Given the description of an element on the screen output the (x, y) to click on. 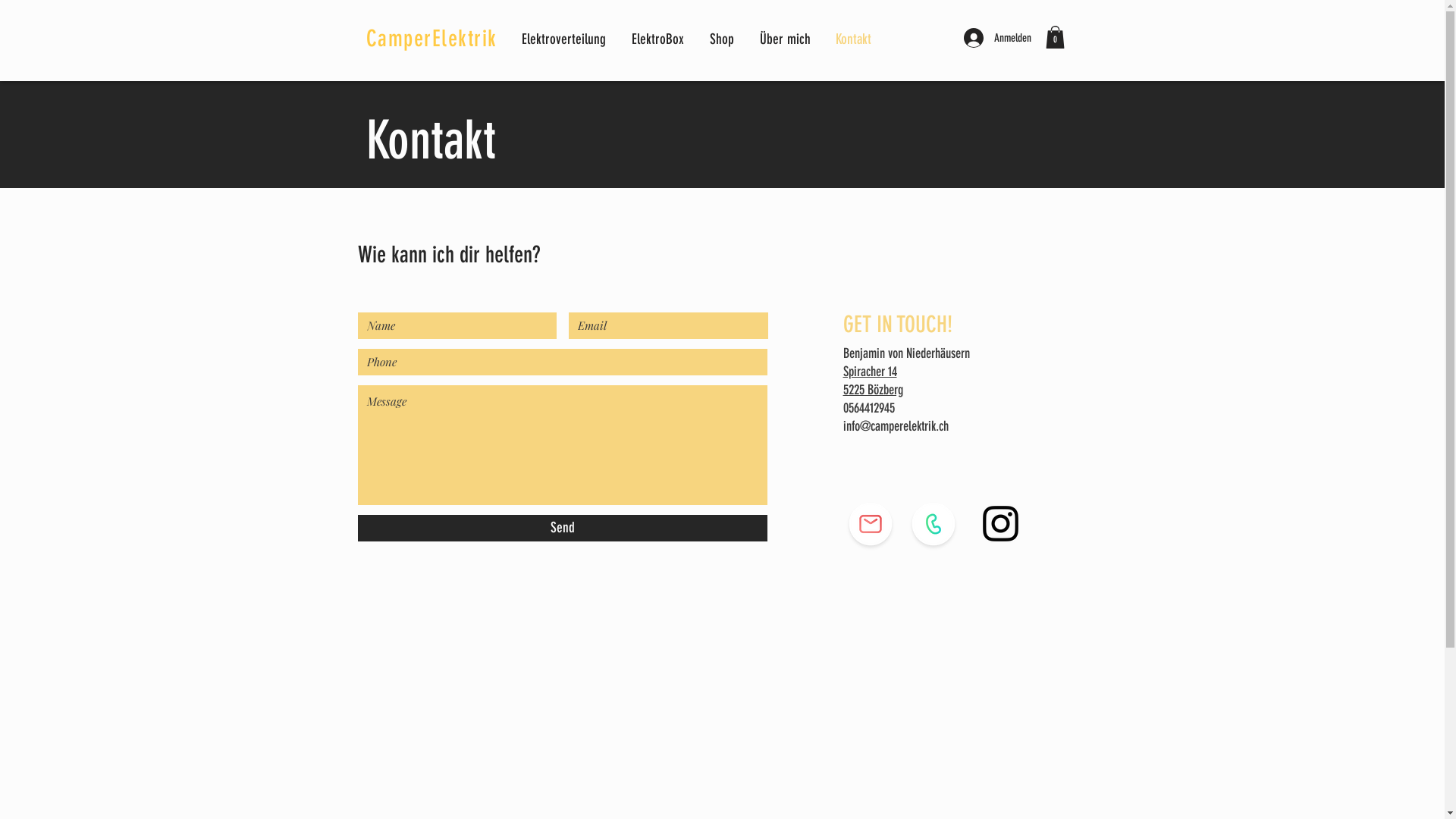
info@camperelektrik.ch Element type: text (895, 425)
CamperElektrik Element type: text (430, 38)
ElektroBox Element type: text (659, 39)
Kontakt Element type: text (853, 39)
Send Element type: text (562, 527)
Spiracher 14 Element type: text (870, 370)
Shop Element type: text (722, 39)
Elektroverteilung Element type: text (564, 39)
0 Element type: text (1053, 36)
Anmelden Element type: text (996, 37)
